Given the description of an element on the screen output the (x, y) to click on. 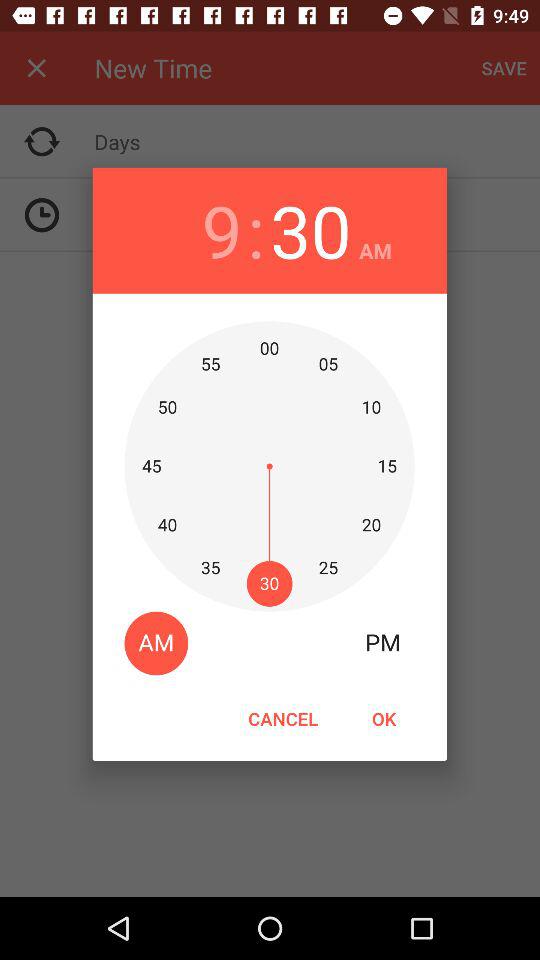
scroll until the ok item (383, 718)
